Given the description of an element on the screen output the (x, y) to click on. 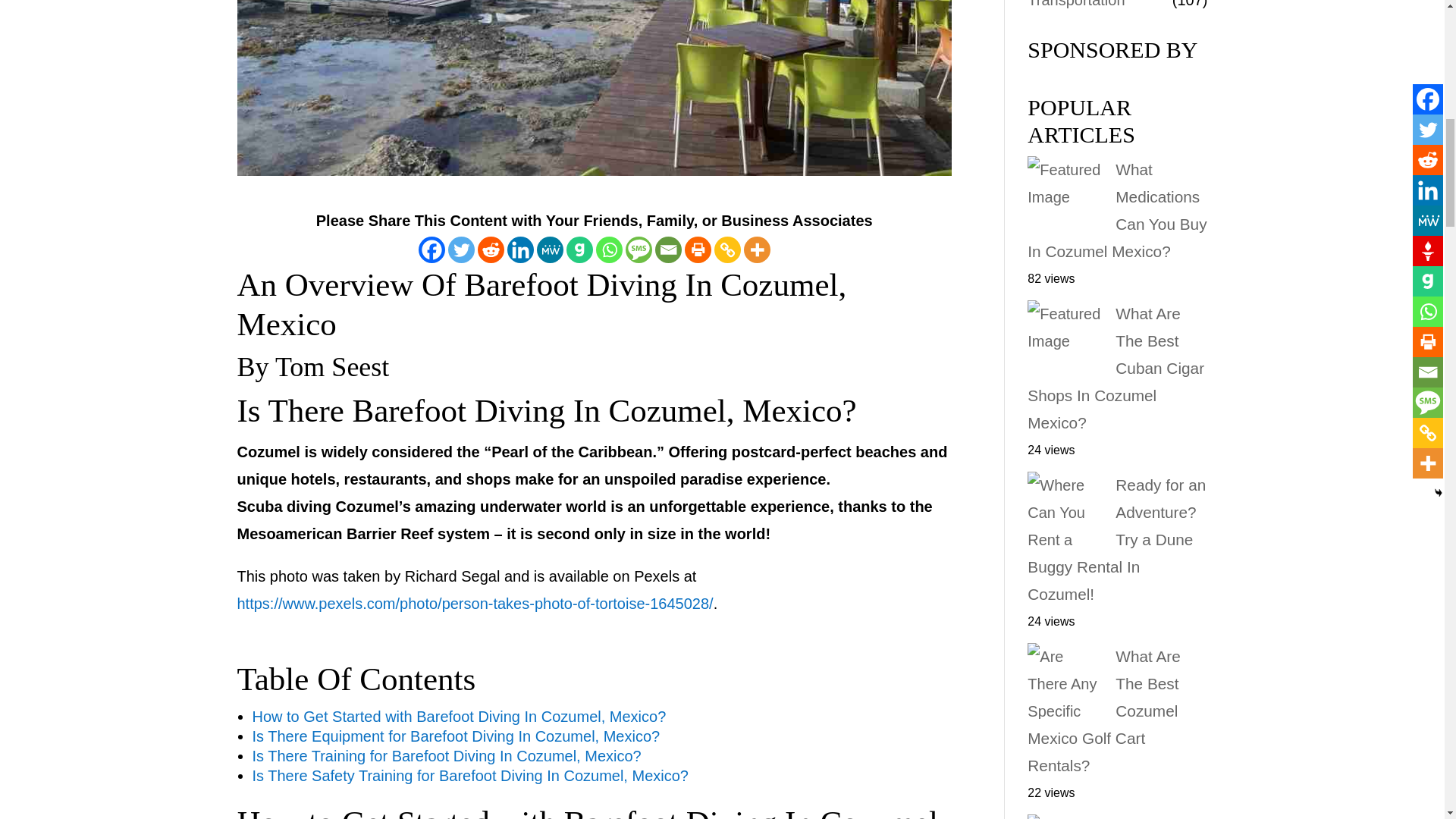
Reddit (490, 249)
Twitter (461, 249)
MeWe (550, 249)
Linkedin (520, 249)
Facebook (432, 249)
